Given the description of an element on the screen output the (x, y) to click on. 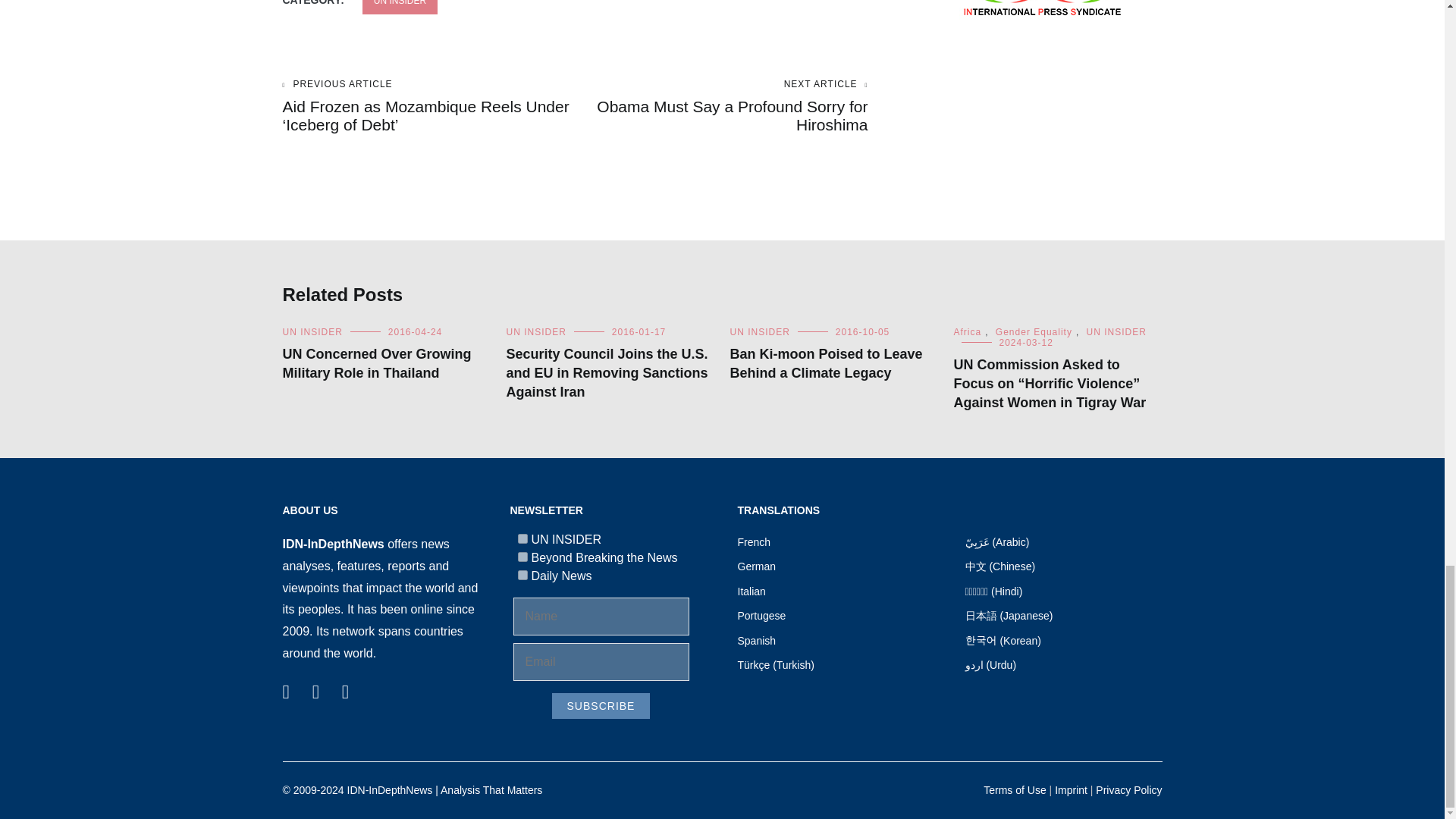
7 (521, 538)
Terms of Use (1014, 789)
Imprint (1070, 789)
9 (521, 556)
10 (521, 574)
